Given the description of an element on the screen output the (x, y) to click on. 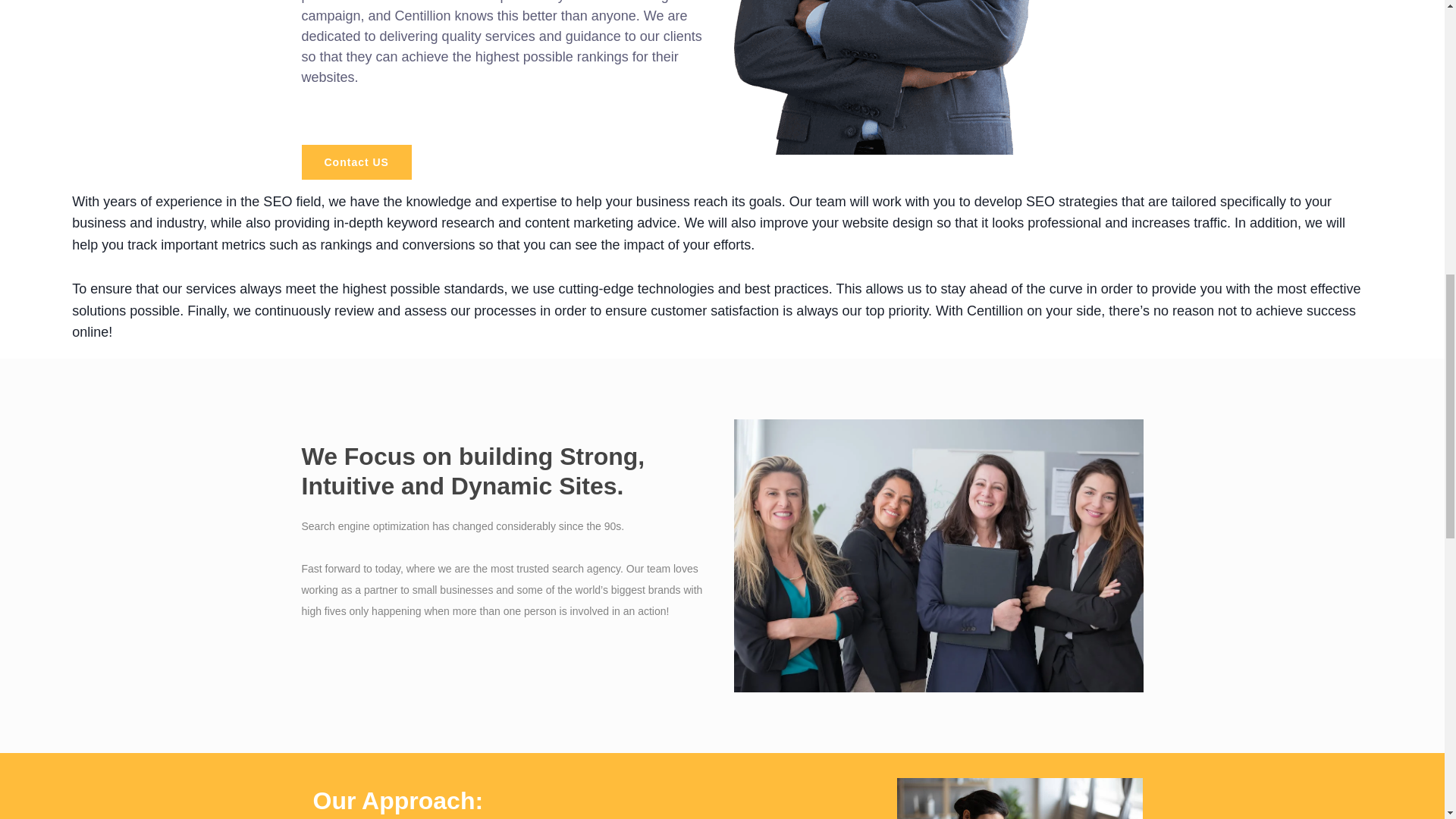
Contact US (356, 161)
